Given the description of an element on the screen output the (x, y) to click on. 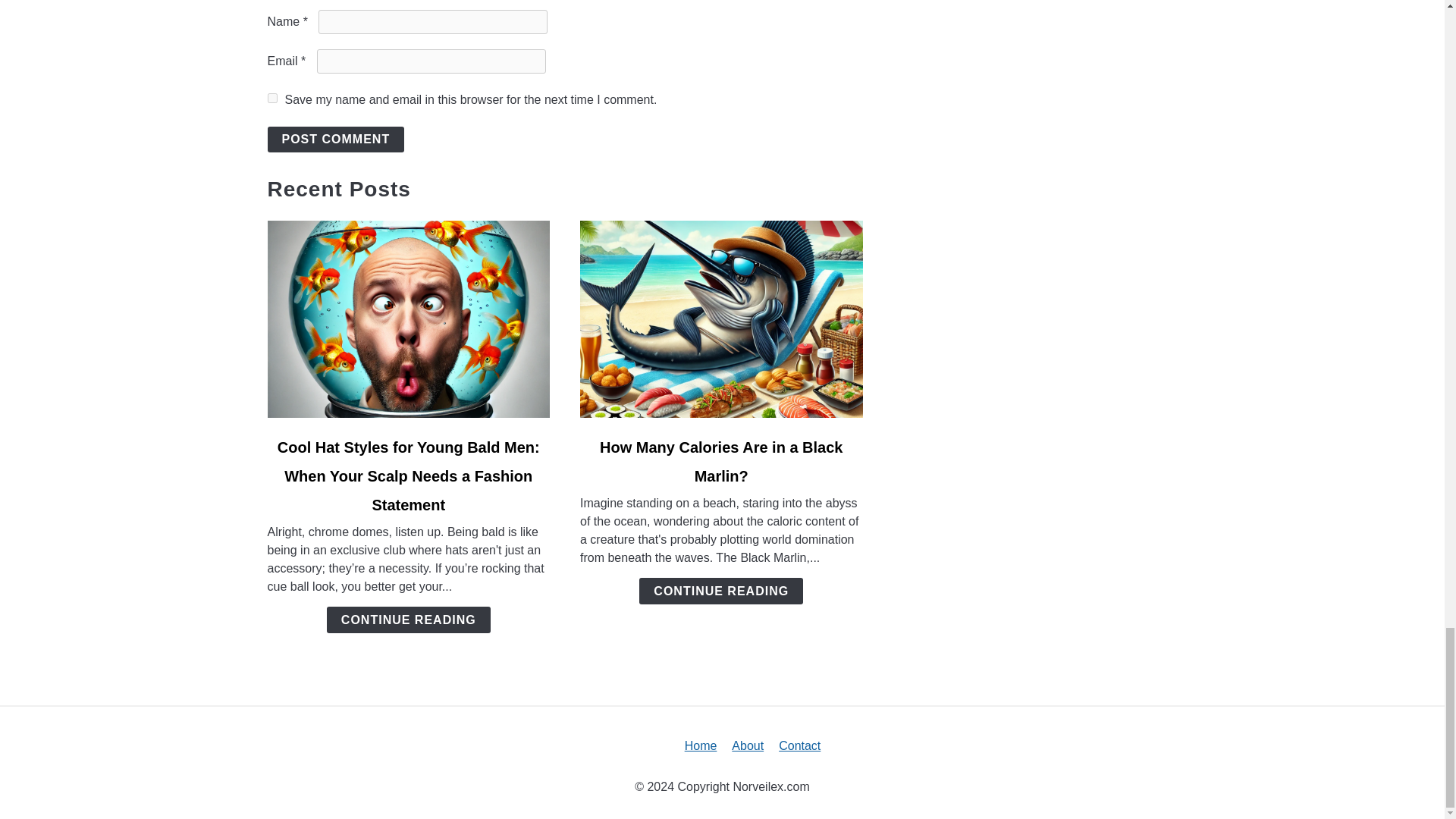
CONTINUE READING (408, 619)
CONTINUE READING (721, 591)
Post Comment (335, 139)
yes (271, 98)
Post Comment (335, 139)
link to How Many Calories Are in a Black Marlin? (721, 318)
How Many Calories Are in a Black Marlin? (721, 461)
